Given the description of an element on the screen output the (x, y) to click on. 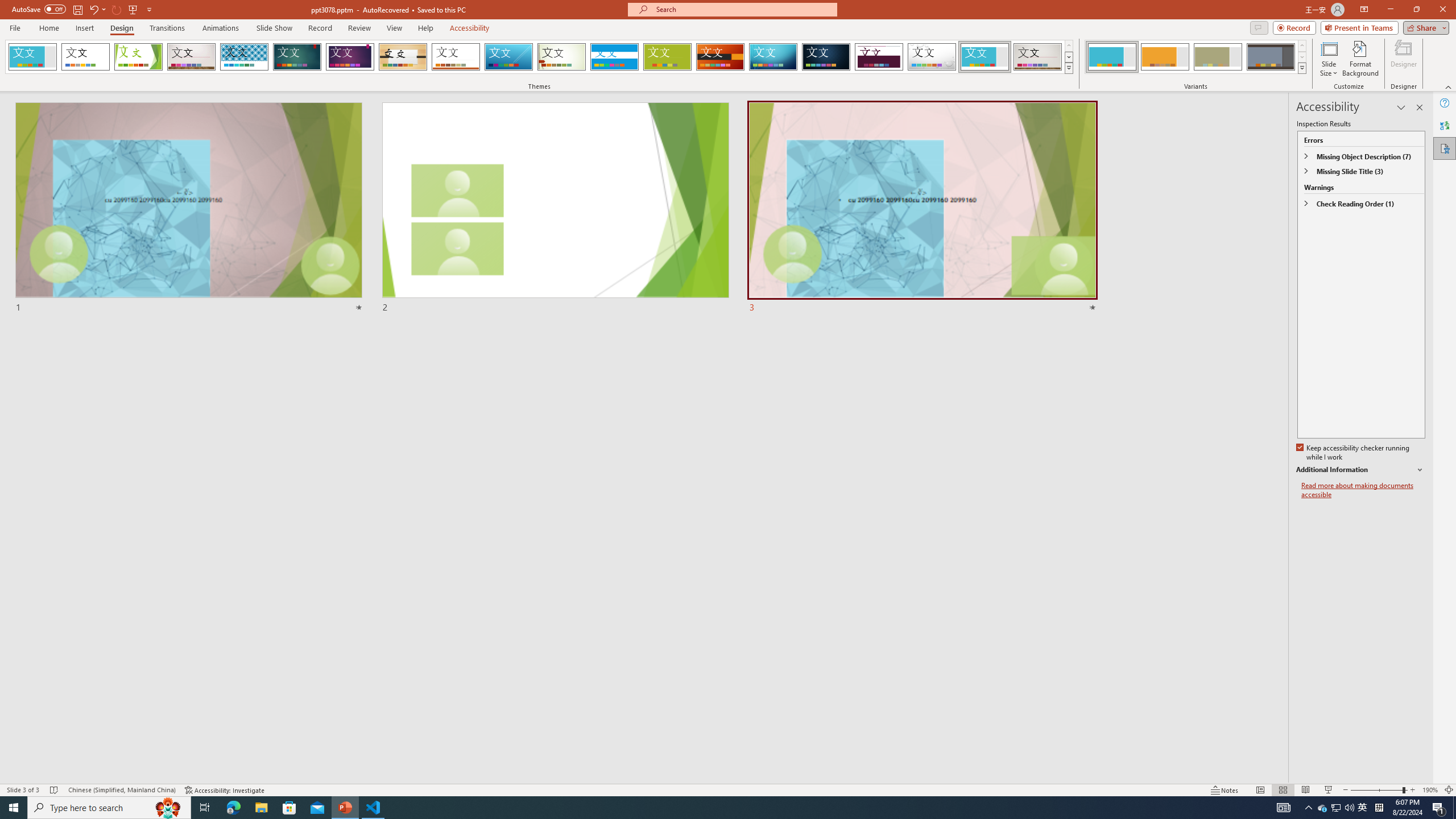
Frame Variant 2 (1164, 56)
Facet (138, 56)
Office Theme (85, 56)
Themes (1068, 67)
AutomationID: SlideThemesGallery (539, 56)
